Given the description of an element on the screen output the (x, y) to click on. 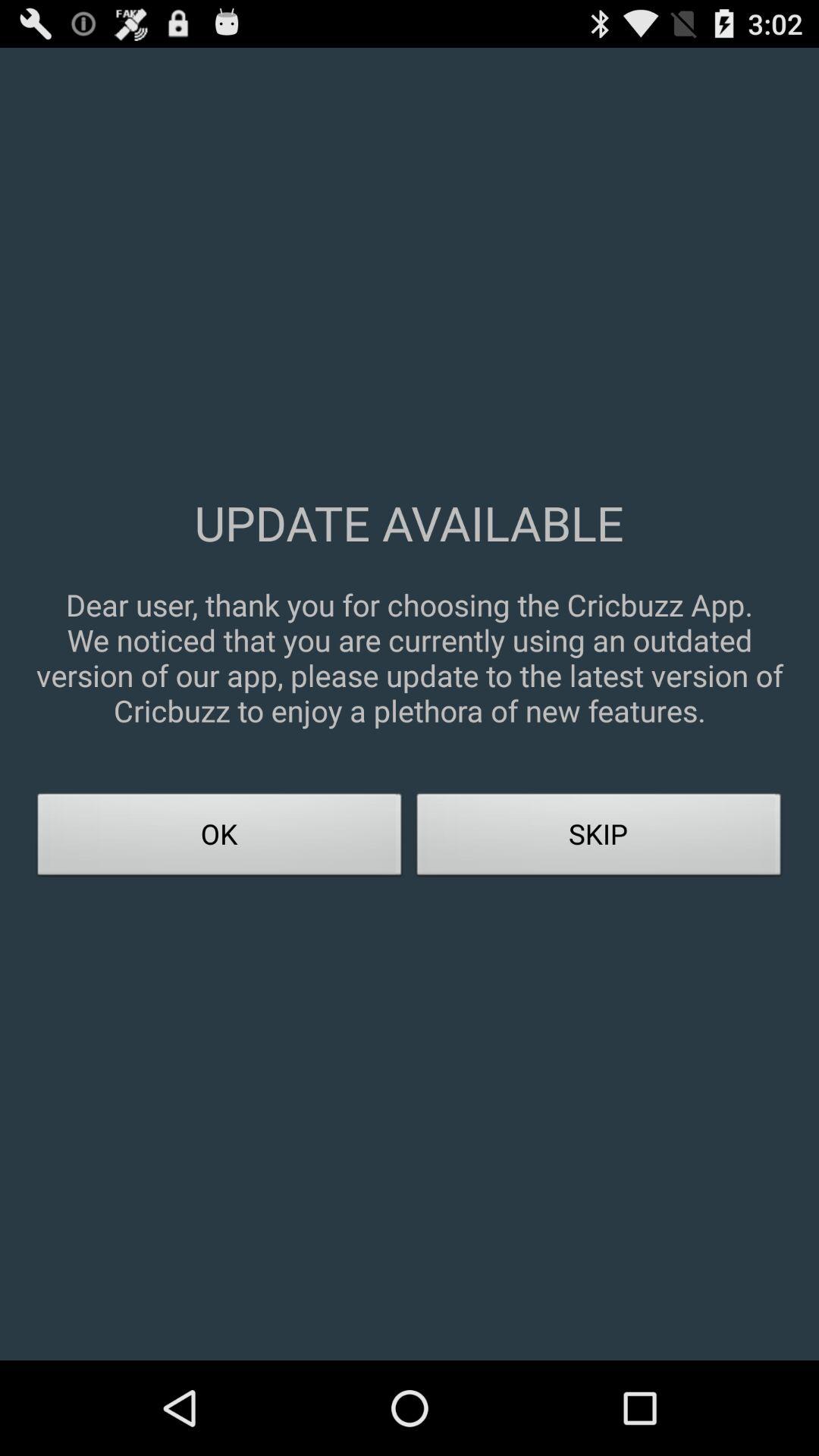
press the button on the right (598, 838)
